Given the description of an element on the screen output the (x, y) to click on. 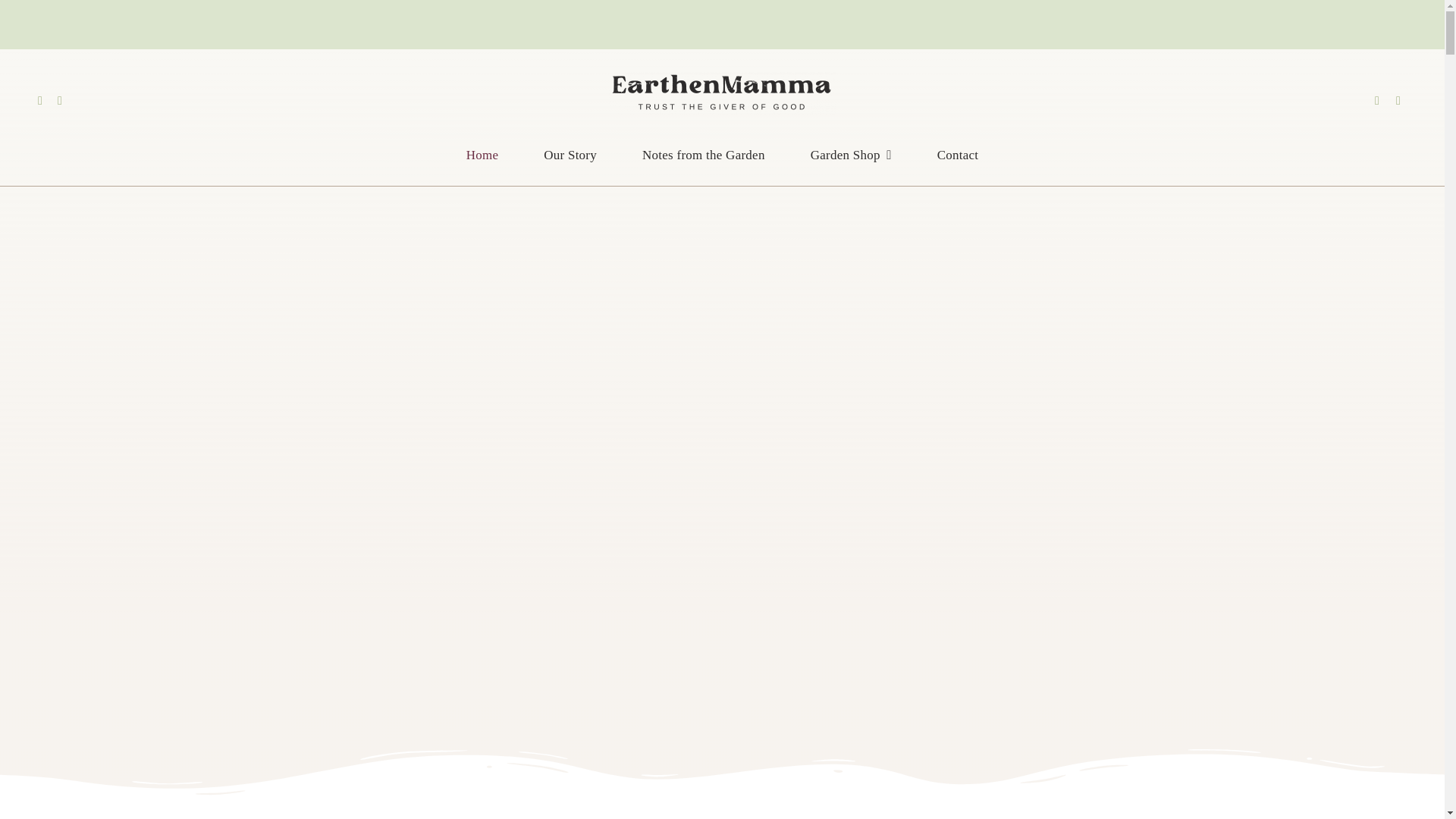
Our Story (569, 154)
Facebook (39, 101)
Garden Shop (851, 154)
Instagram (60, 101)
Contact (958, 154)
Notes from the Garden (703, 154)
Home (482, 154)
